Given the description of an element on the screen output the (x, y) to click on. 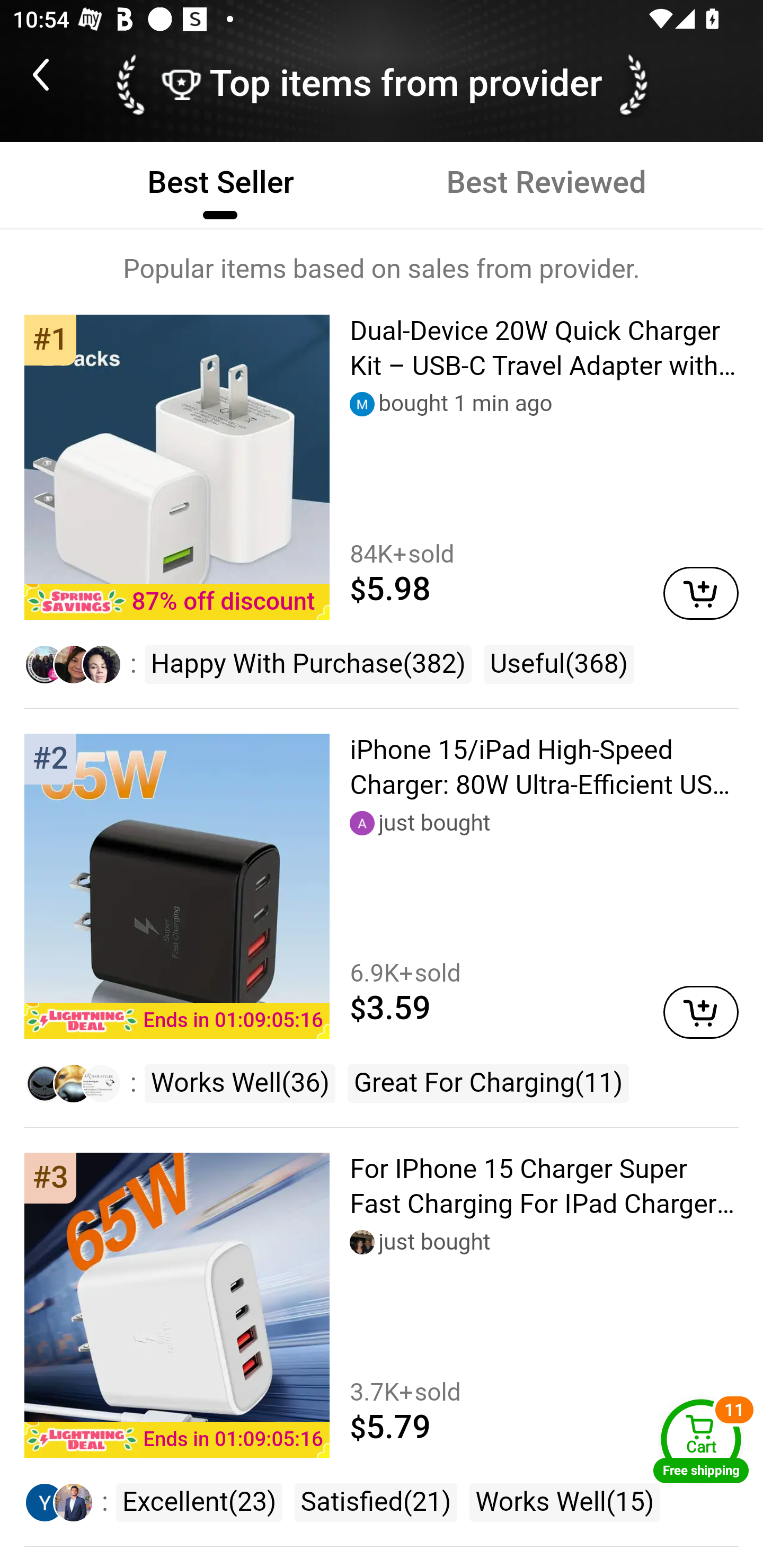
Best Seller (220, 183)
Best Reviewed (546, 183)
Cart Free shipping Cart (701, 1440)
